Given the description of an element on the screen output the (x, y) to click on. 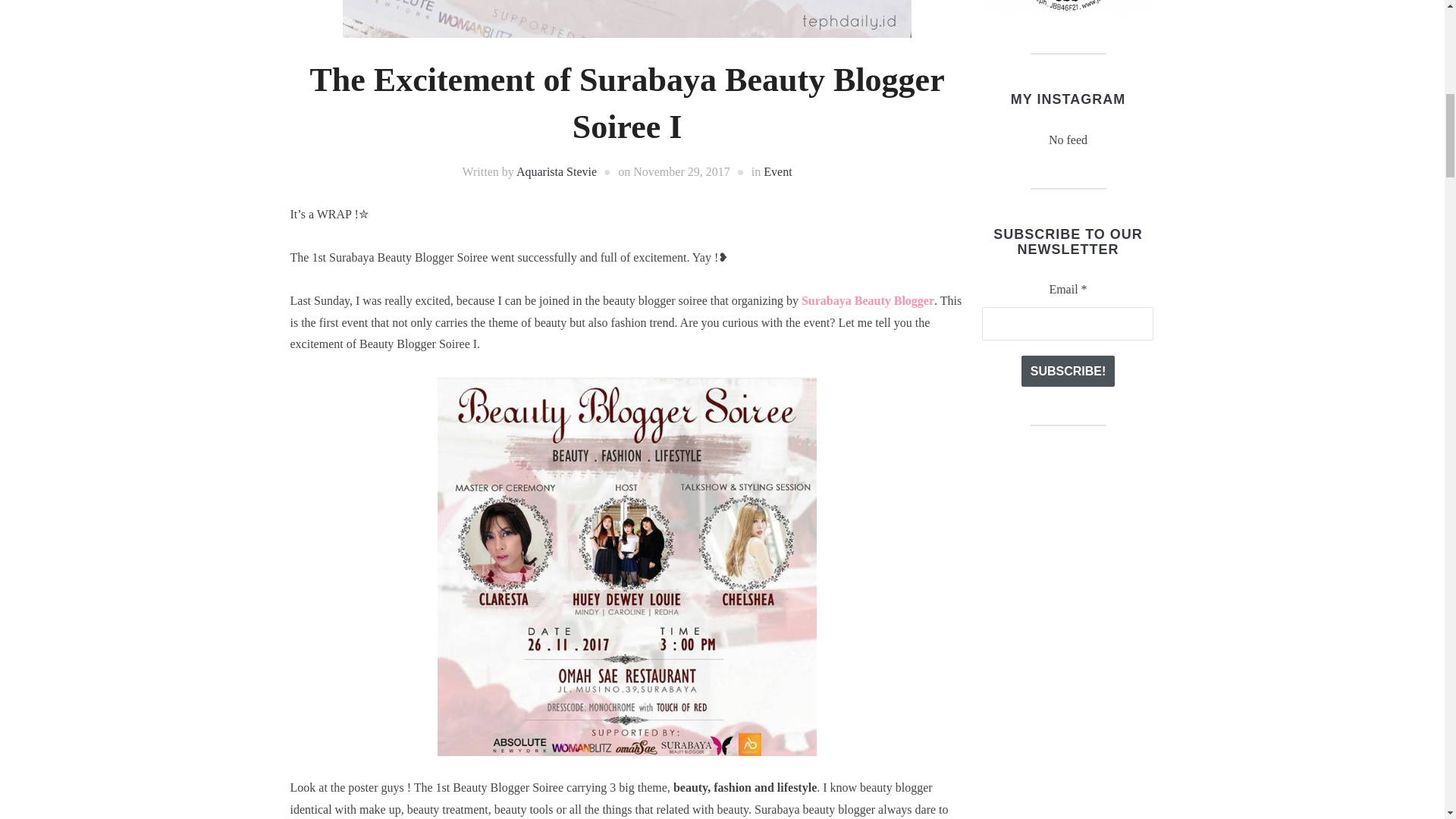
Aquarista Stevie (556, 171)
Subscribe! (1068, 370)
Surabaya Beauty Blogger (868, 300)
Email (1067, 323)
Event (777, 171)
Posts by Aquarista Stevie (556, 171)
